Given the description of an element on the screen output the (x, y) to click on. 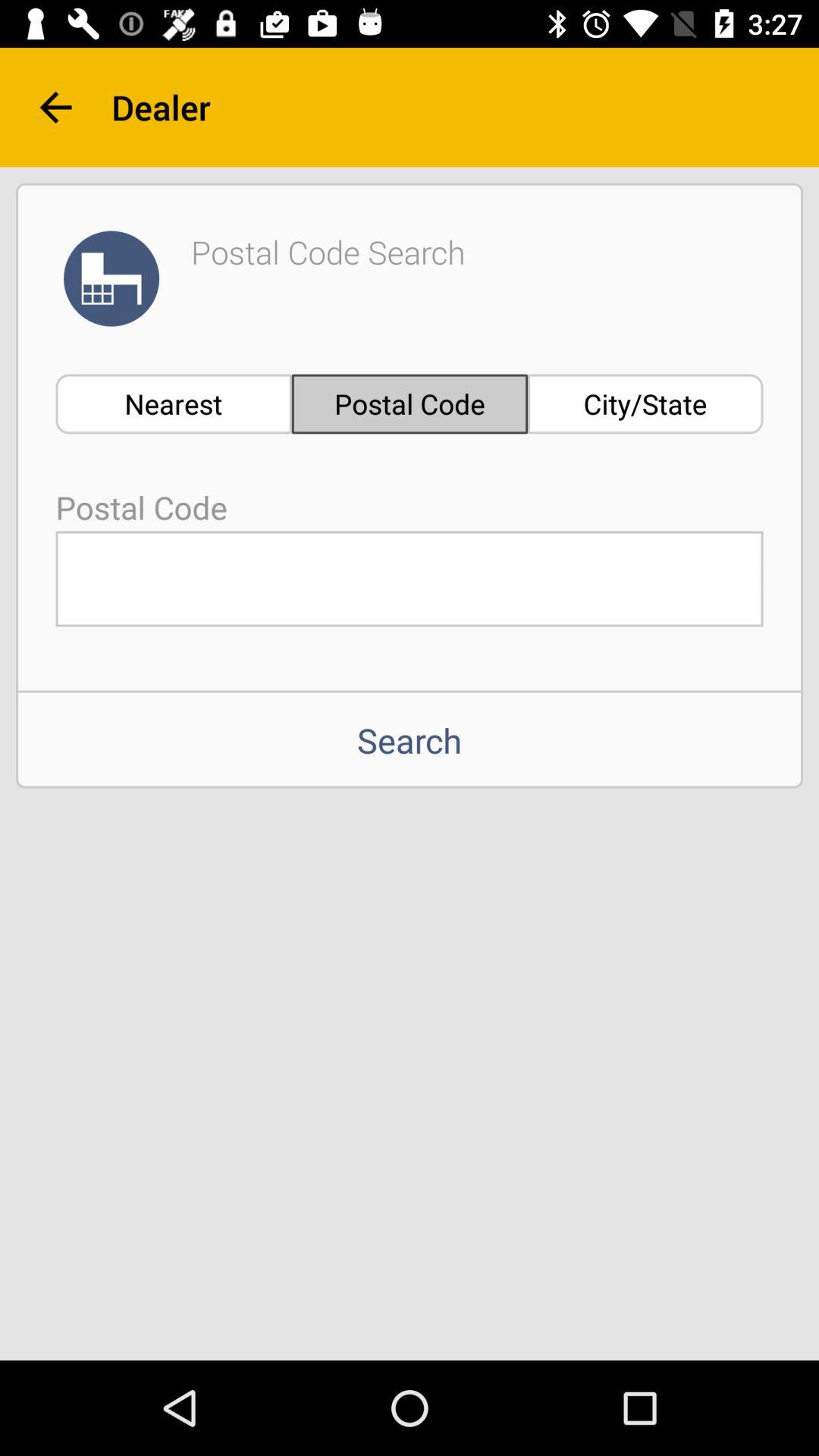
enter postal code (409, 578)
